Given the description of an element on the screen output the (x, y) to click on. 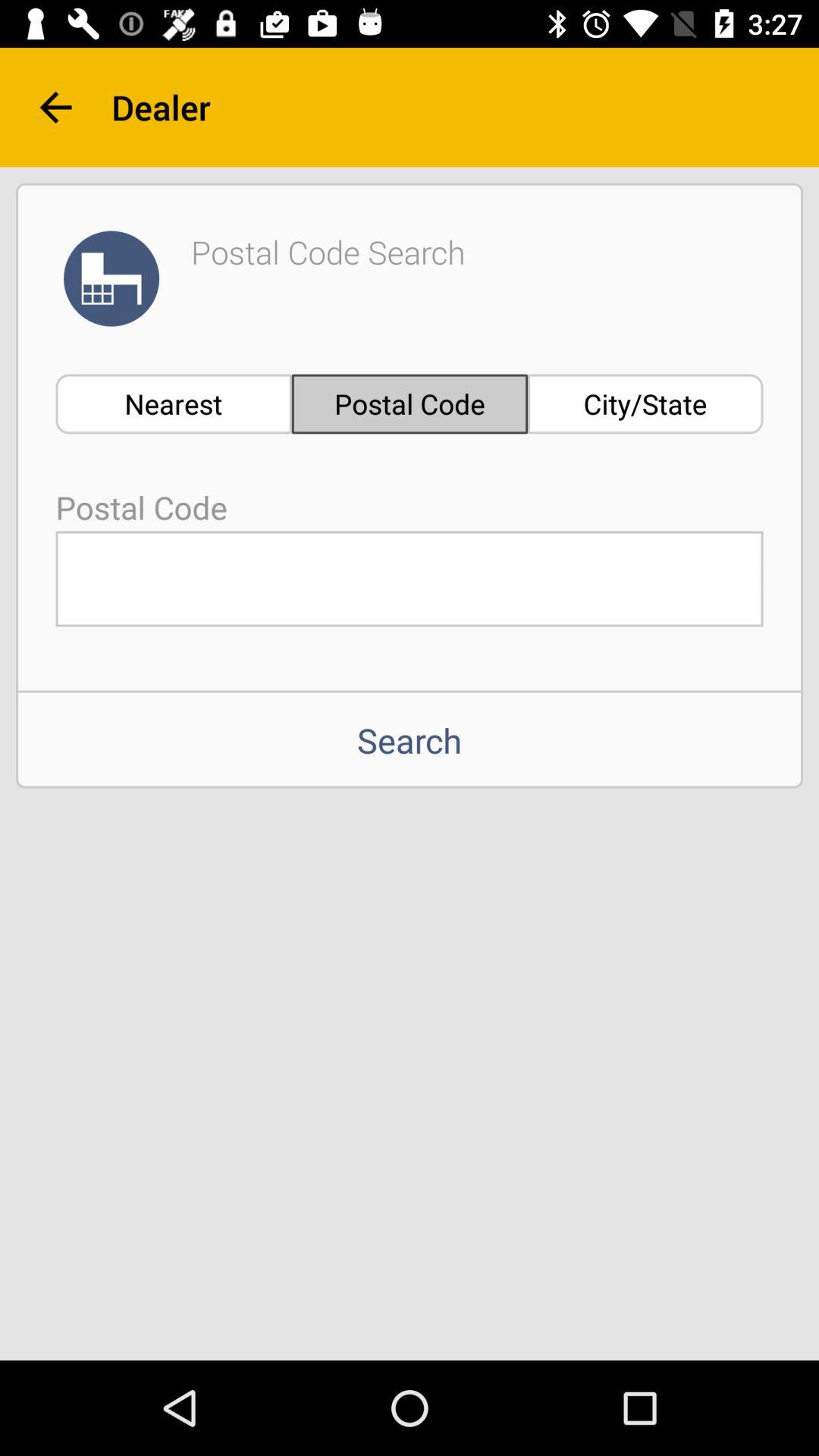
enter postal code (409, 578)
